Given the description of an element on the screen output the (x, y) to click on. 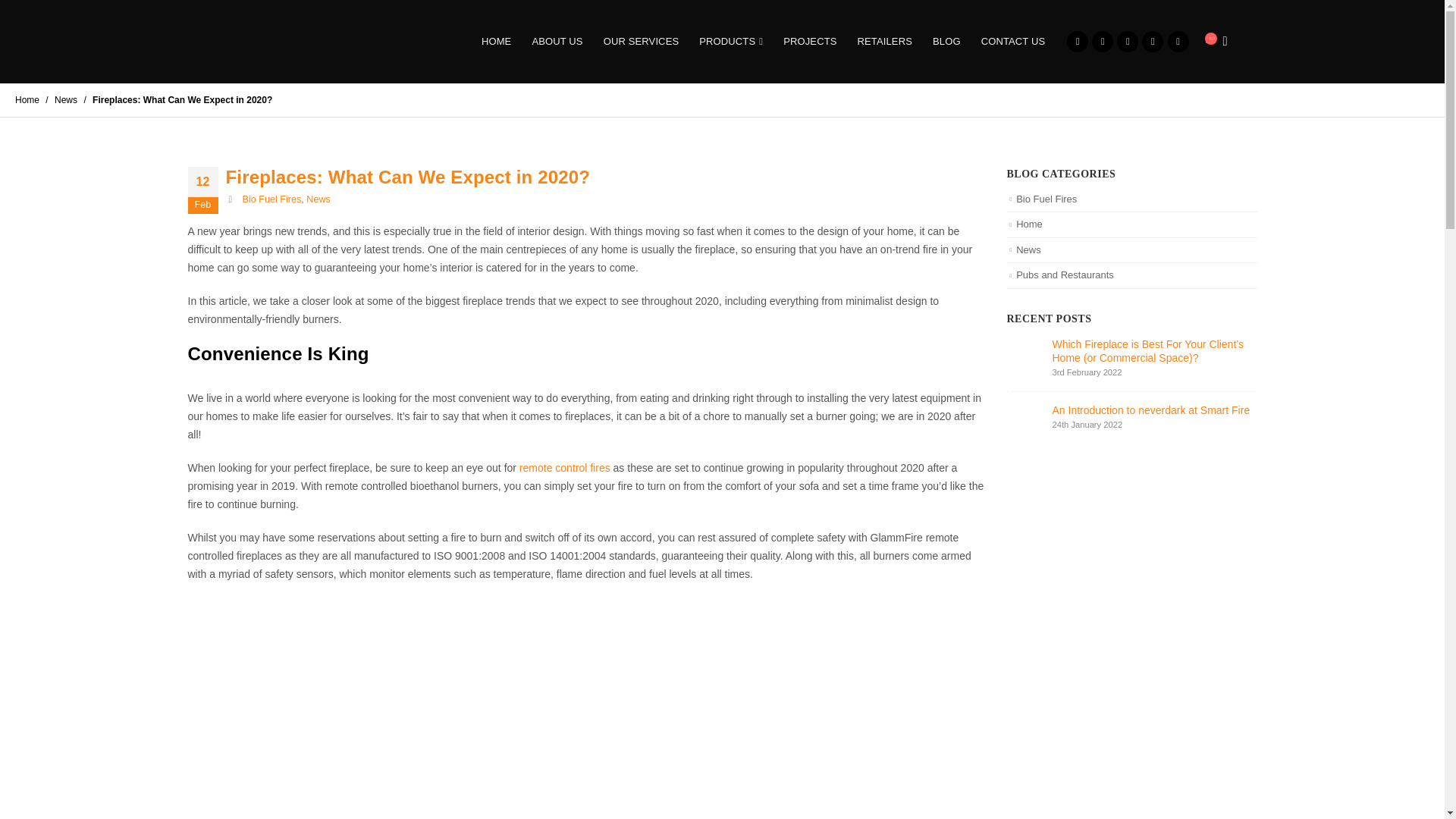
Facebook (1077, 41)
ABOUT US (556, 41)
CONTACT US (1013, 41)
Instagram (1178, 41)
News (66, 100)
BLOG (947, 41)
remote control fires (564, 467)
Home (26, 100)
PROJECTS (809, 41)
HOME (496, 41)
